Given the description of an element on the screen output the (x, y) to click on. 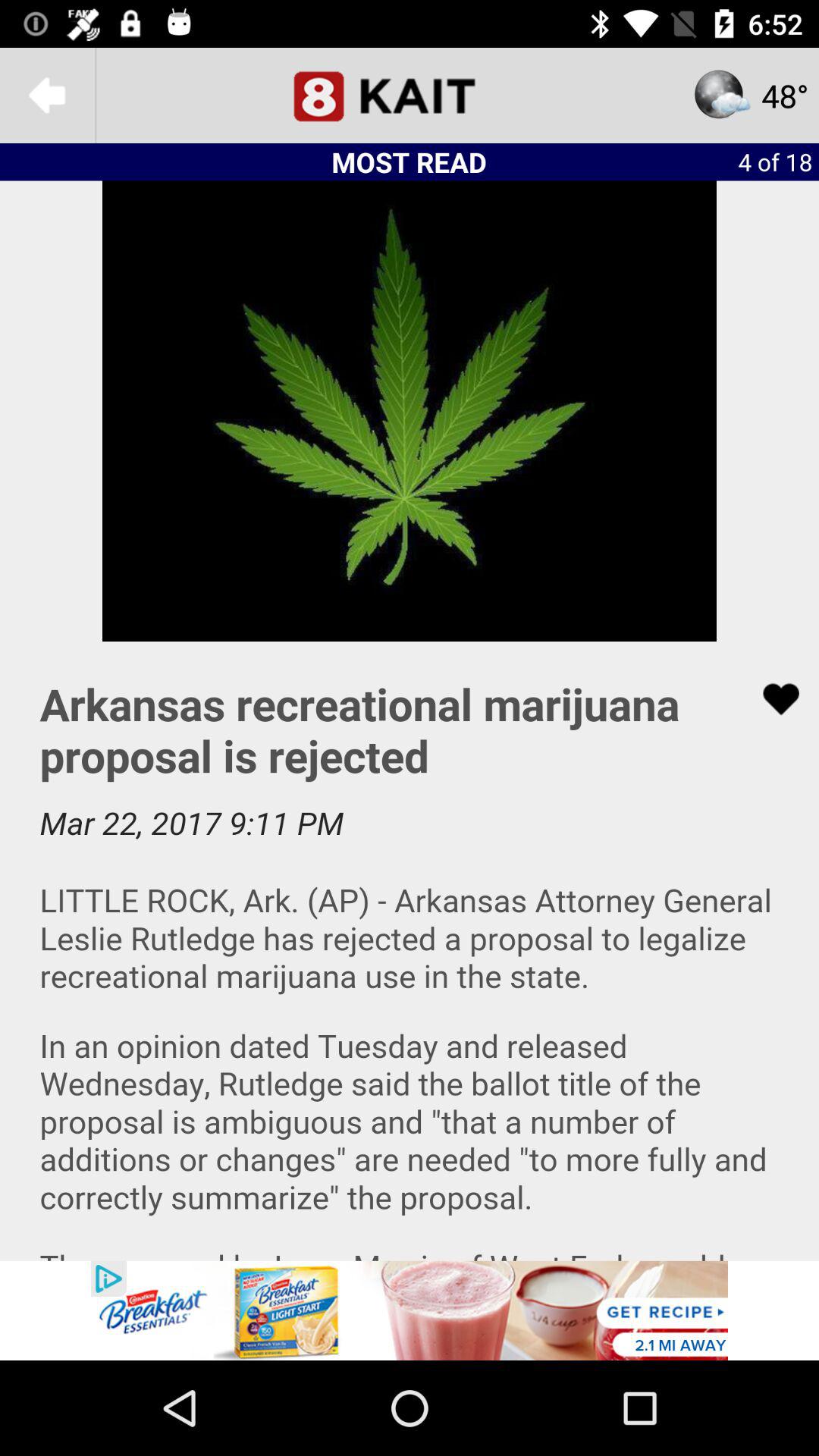
home site link (409, 95)
